Given the description of an element on the screen output the (x, y) to click on. 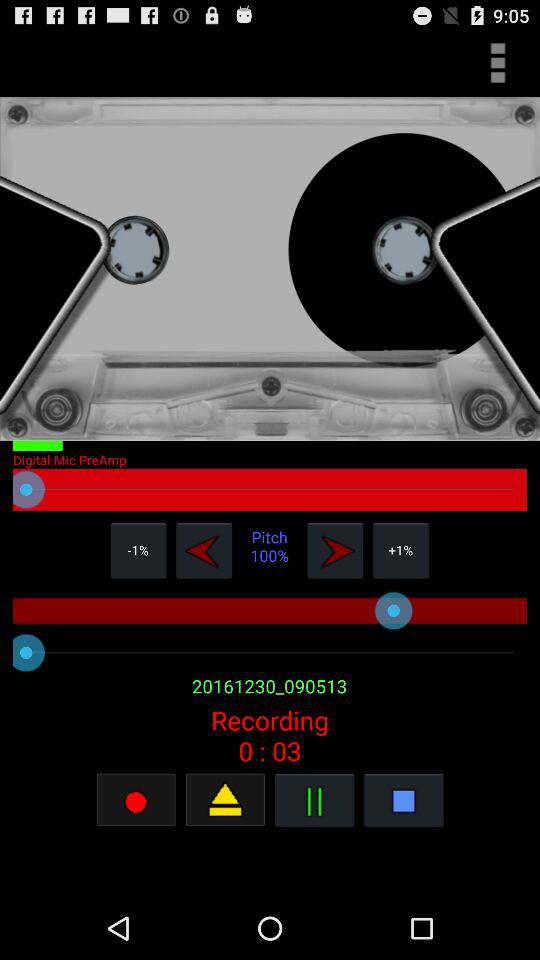
open main menu (498, 62)
